Given the description of an element on the screen output the (x, y) to click on. 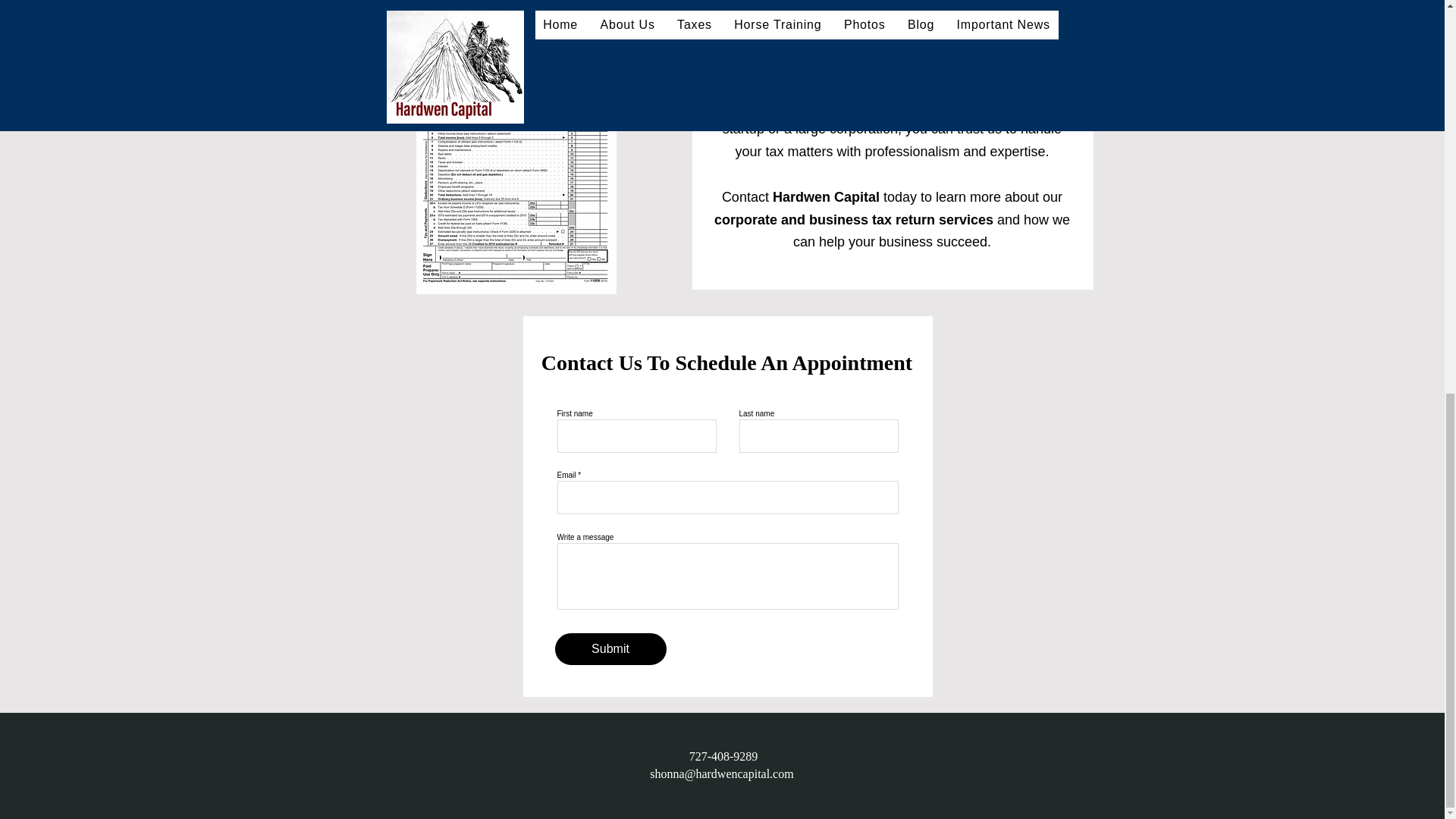
Submit (610, 649)
RJ pic website.jpg (514, 3)
